Given the description of an element on the screen output the (x, y) to click on. 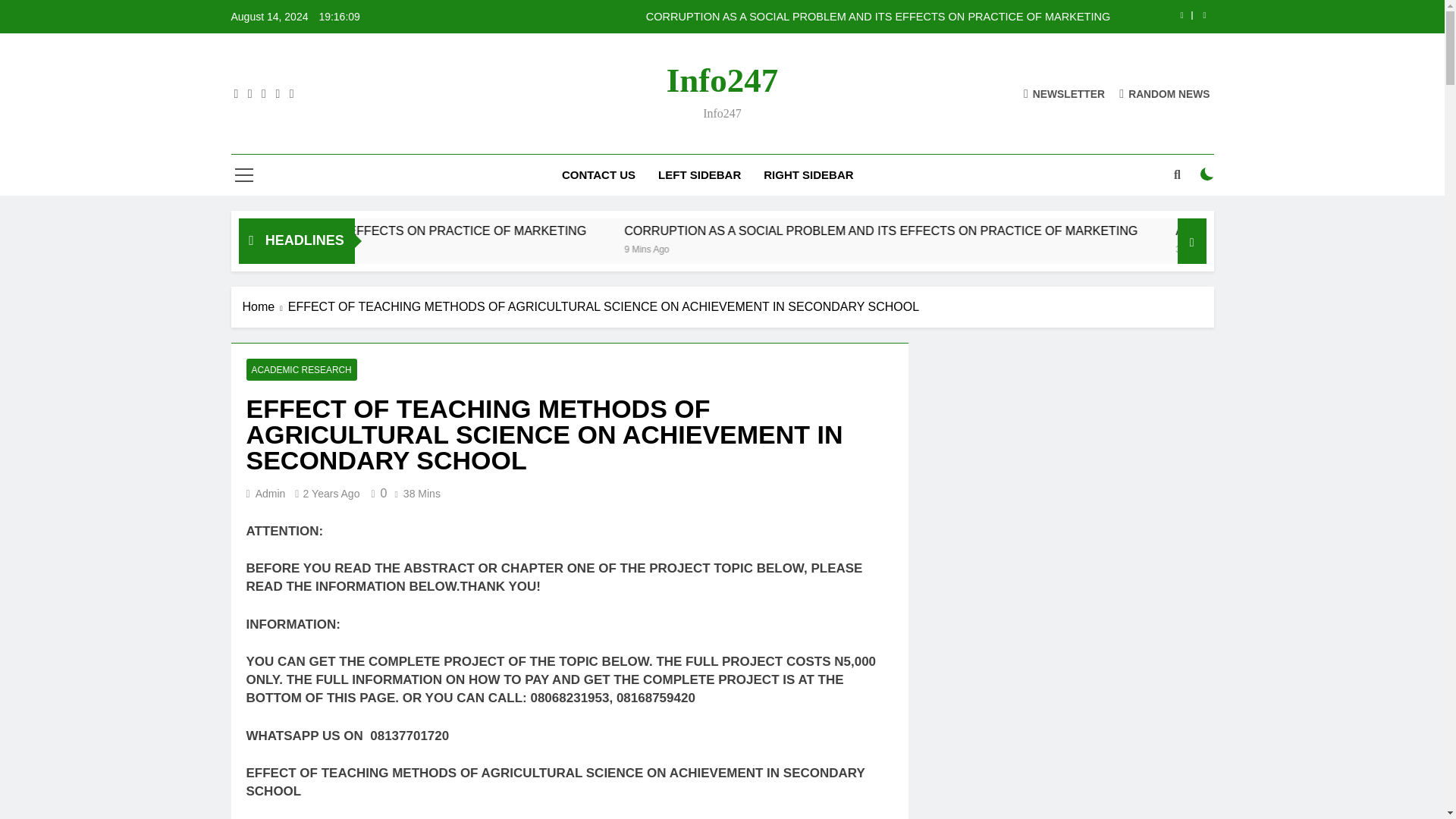
LEFT SIDEBAR (699, 174)
CONTACT US (598, 174)
RANDOM NEWS (1164, 92)
9 Mins Ago (866, 247)
NEWSLETTER (1064, 92)
